Given the description of an element on the screen output the (x, y) to click on. 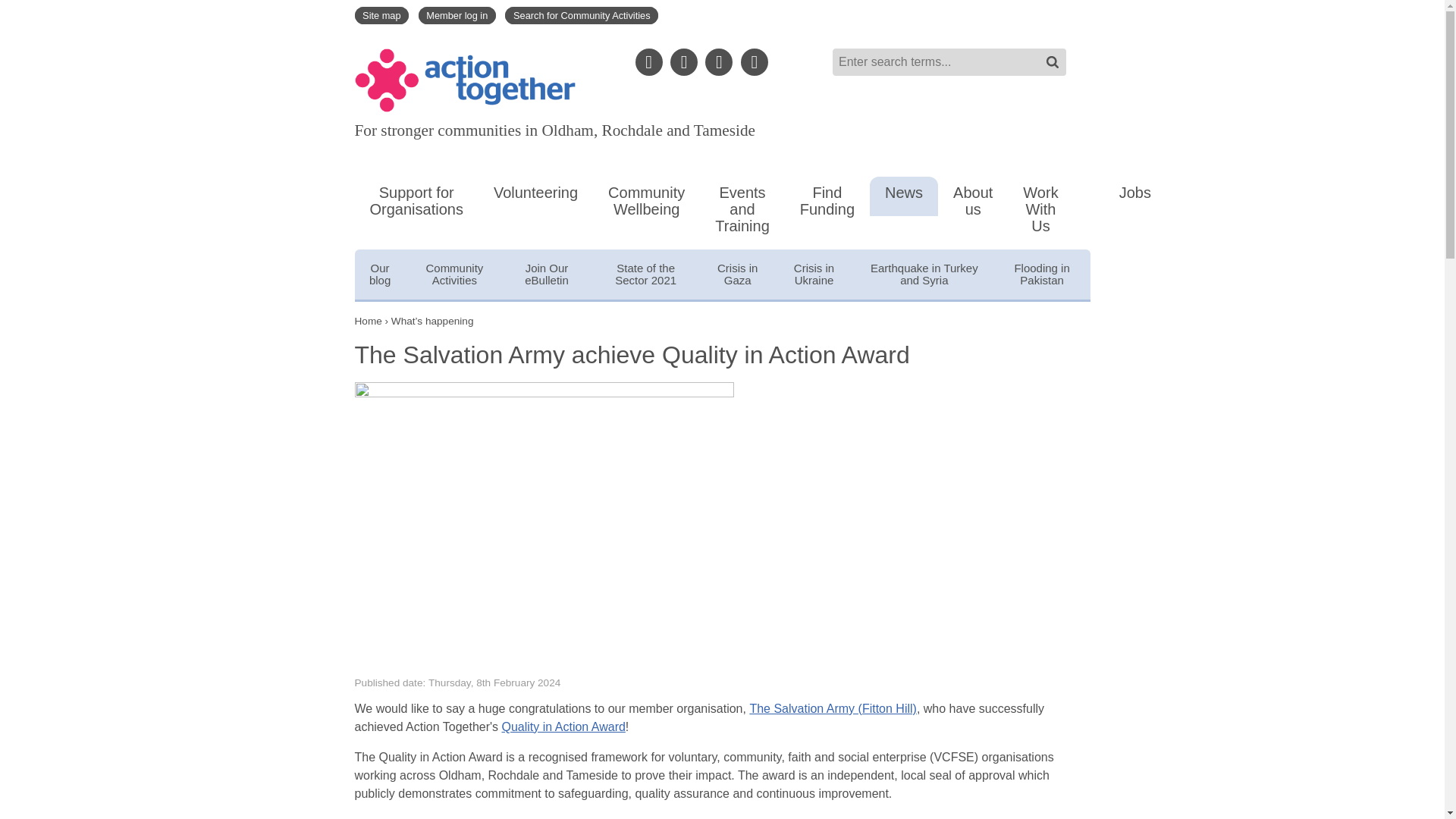
Community Wellbeing (646, 204)
News (903, 196)
Site map (382, 14)
Work With Us (1040, 212)
Our blog (380, 277)
Quality in Action Award (564, 726)
Member log in (457, 14)
Community Activities (454, 277)
LinkedIn (683, 62)
Home (465, 80)
